Given the description of an element on the screen output the (x, y) to click on. 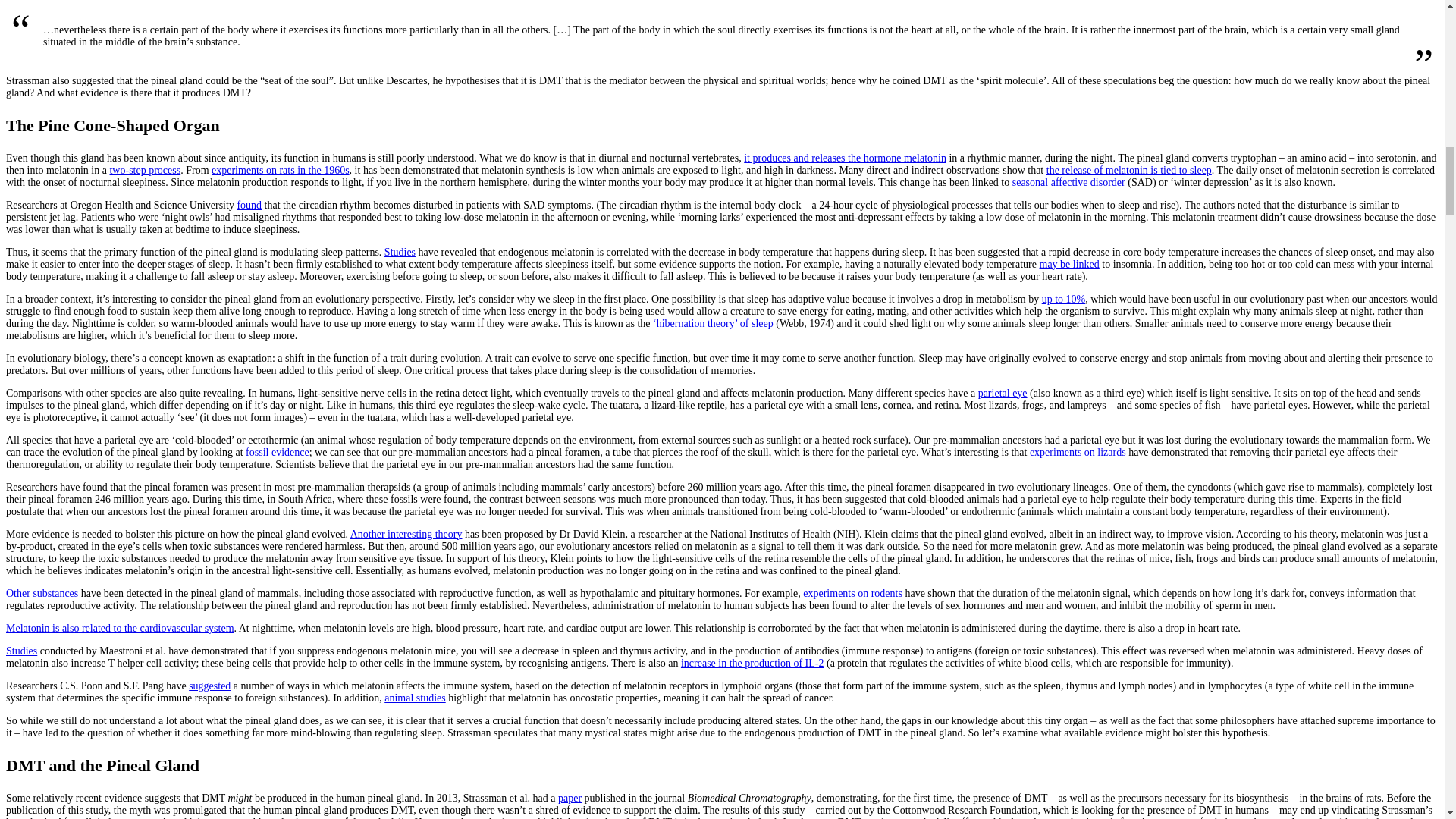
may be linked (1069, 263)
experiments on rats in the 1960s (280, 169)
seasonal affective disorder (1068, 181)
two-step process (144, 169)
found (248, 204)
the release of melatonin is tied to sleep (1128, 169)
it produces and releases the hormone melatonin (845, 156)
Studies (399, 251)
